Given the description of an element on the screen output the (x, y) to click on. 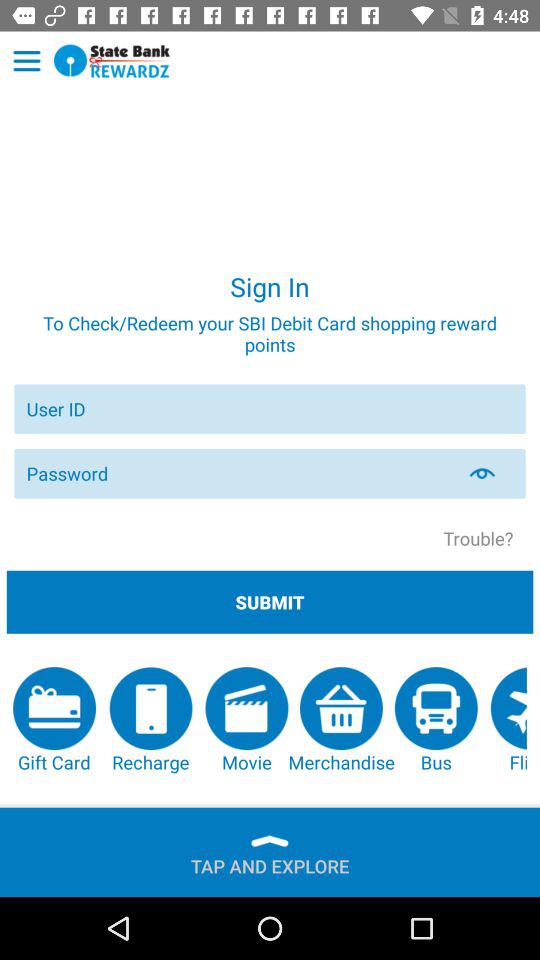
select the item above recharge item (269, 601)
